Given the description of an element on the screen output the (x, y) to click on. 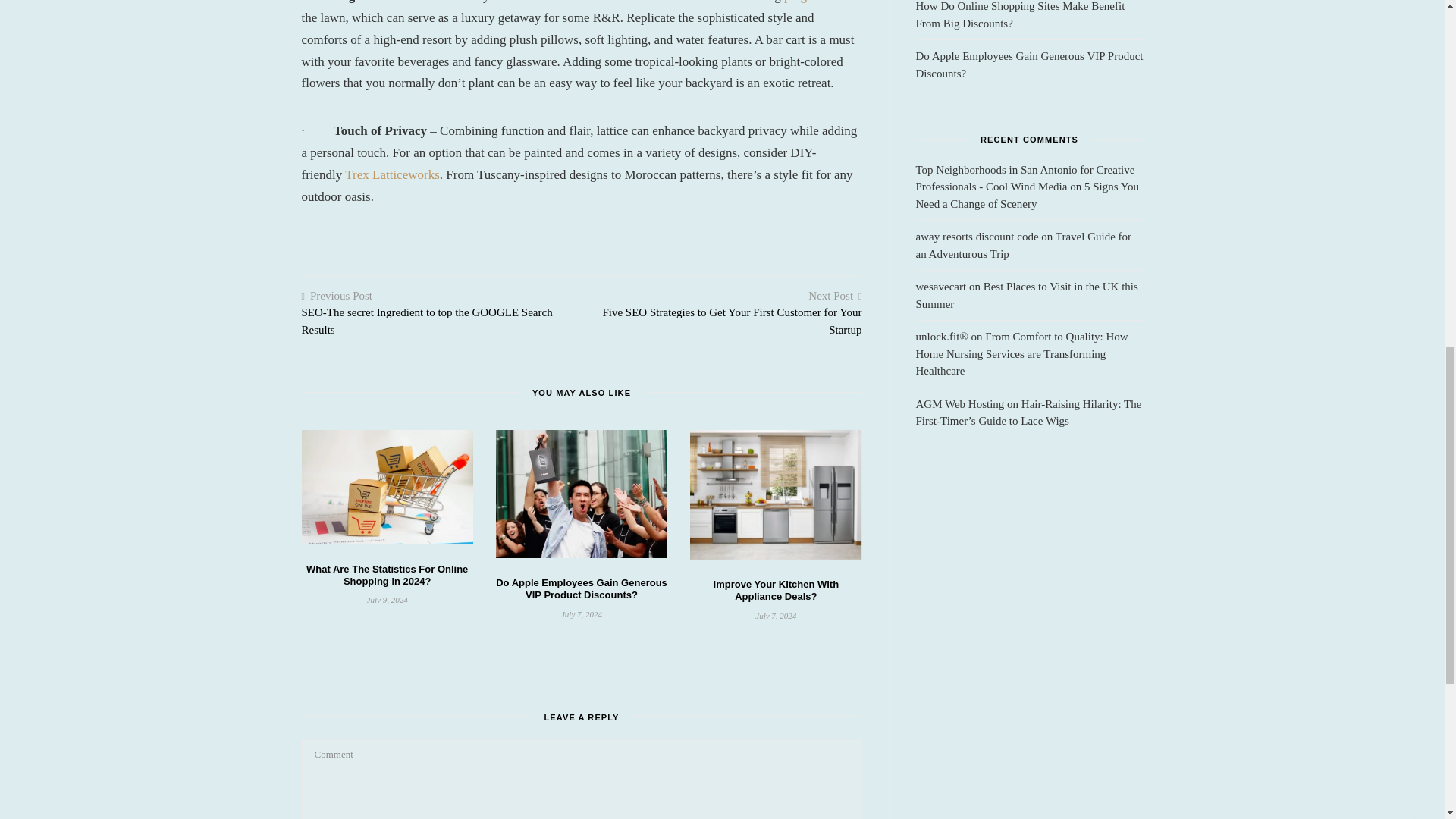
pergola (803, 1)
SEO-The secret Ingredient to top the GOOGLE Search Results (427, 320)
Trex Latticeworks (392, 174)
Do Apple Employees Gain Generous VIP Product Discounts? (581, 588)
Improve Your Kitchen With Appliance Deals? (776, 589)
What Are The Statistics For Online Shopping In 2024? (386, 575)
